Given the description of an element on the screen output the (x, y) to click on. 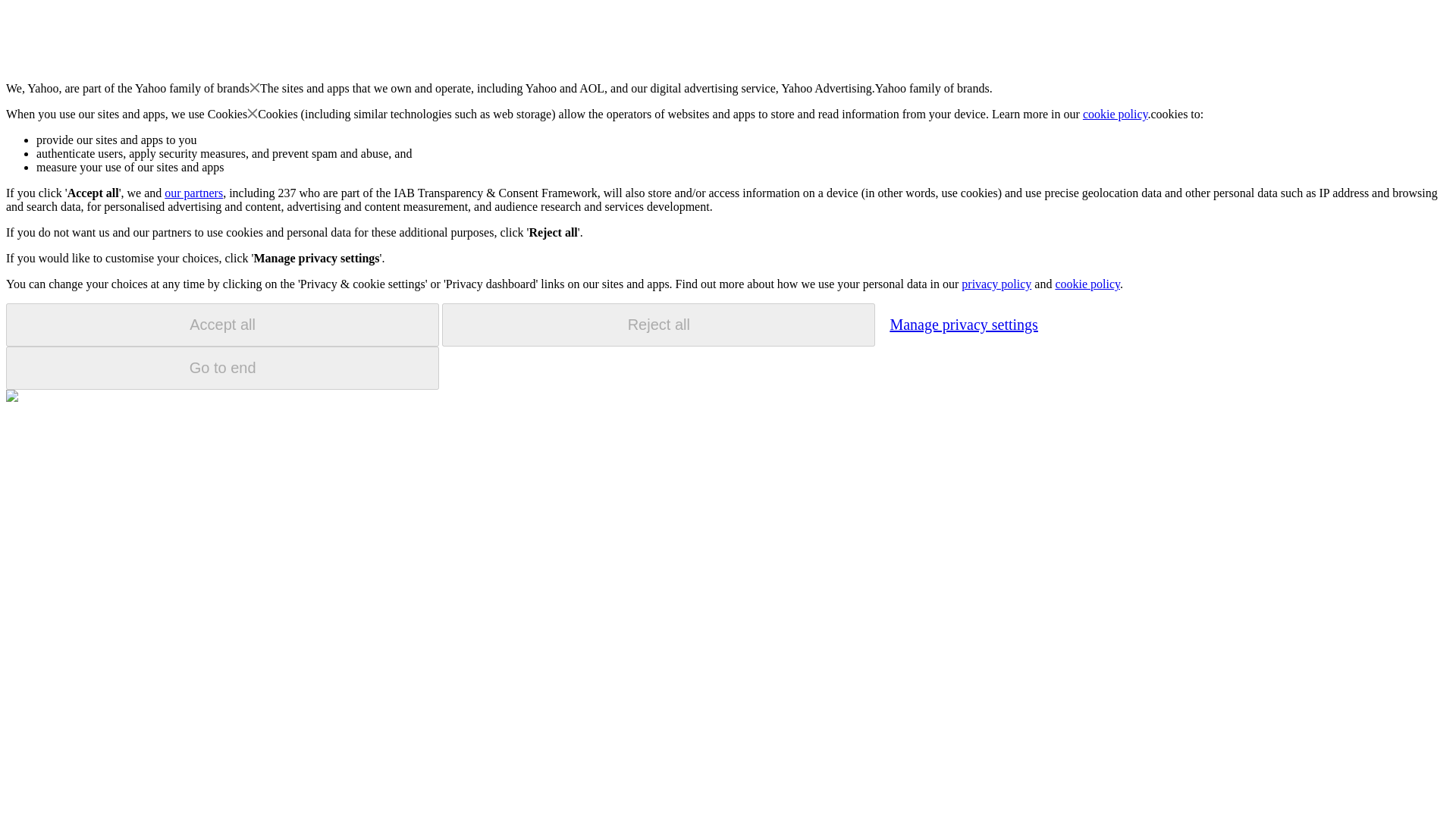
Go to end (222, 367)
Accept all (222, 324)
Reject all (658, 324)
our partners (193, 192)
cookie policy (1115, 113)
cookie policy (1086, 283)
Manage privacy settings (963, 323)
privacy policy (995, 283)
